Given the description of an element on the screen output the (x, y) to click on. 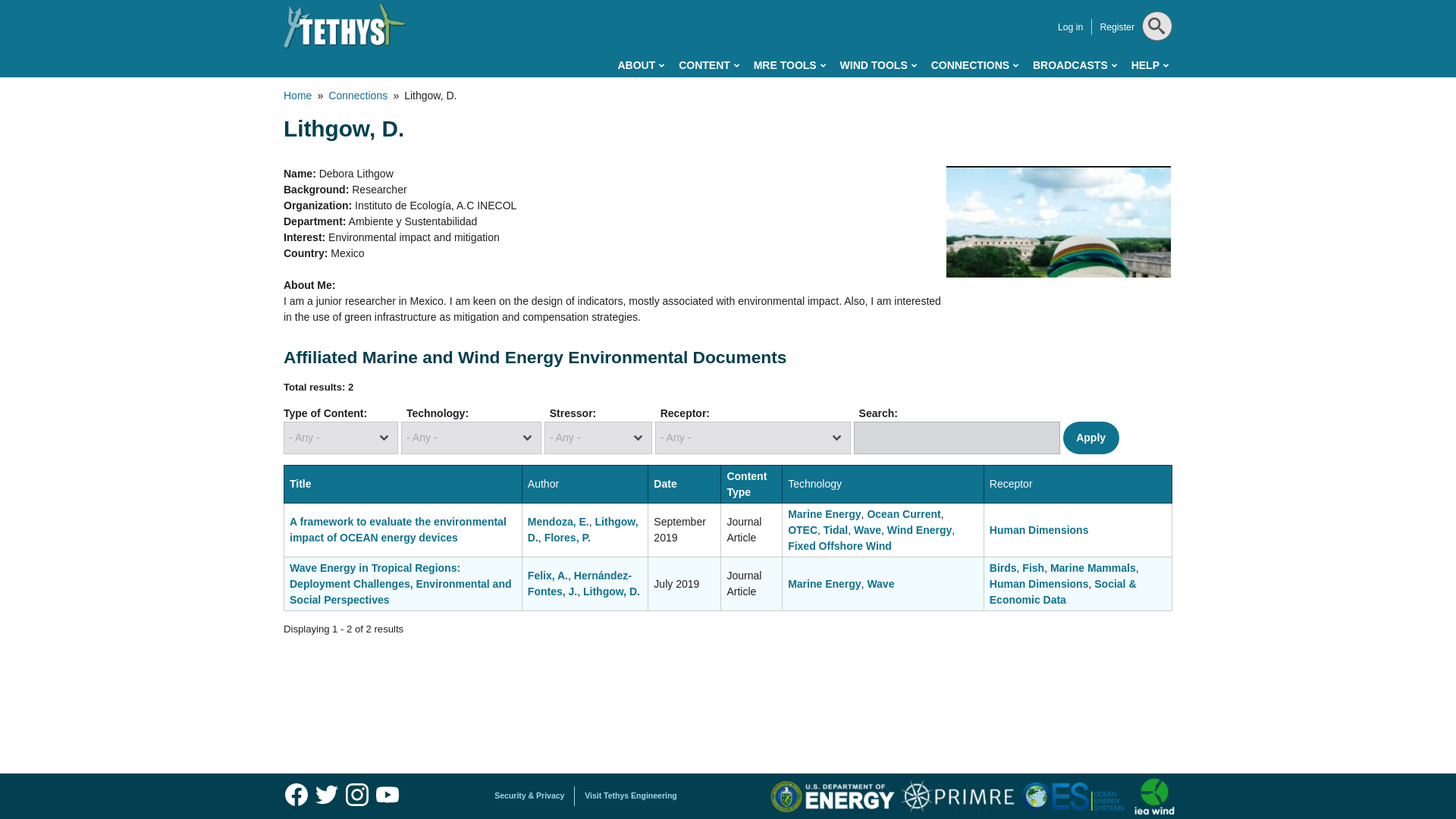
Skip to main content (659, 3)
Apply (1090, 438)
BROADCASTS (1074, 65)
Register (1116, 27)
sort by Content Type (746, 483)
Search (1155, 64)
MRE TOOLS (789, 65)
ABOUT (640, 65)
sort by Title (300, 483)
